Given the description of an element on the screen output the (x, y) to click on. 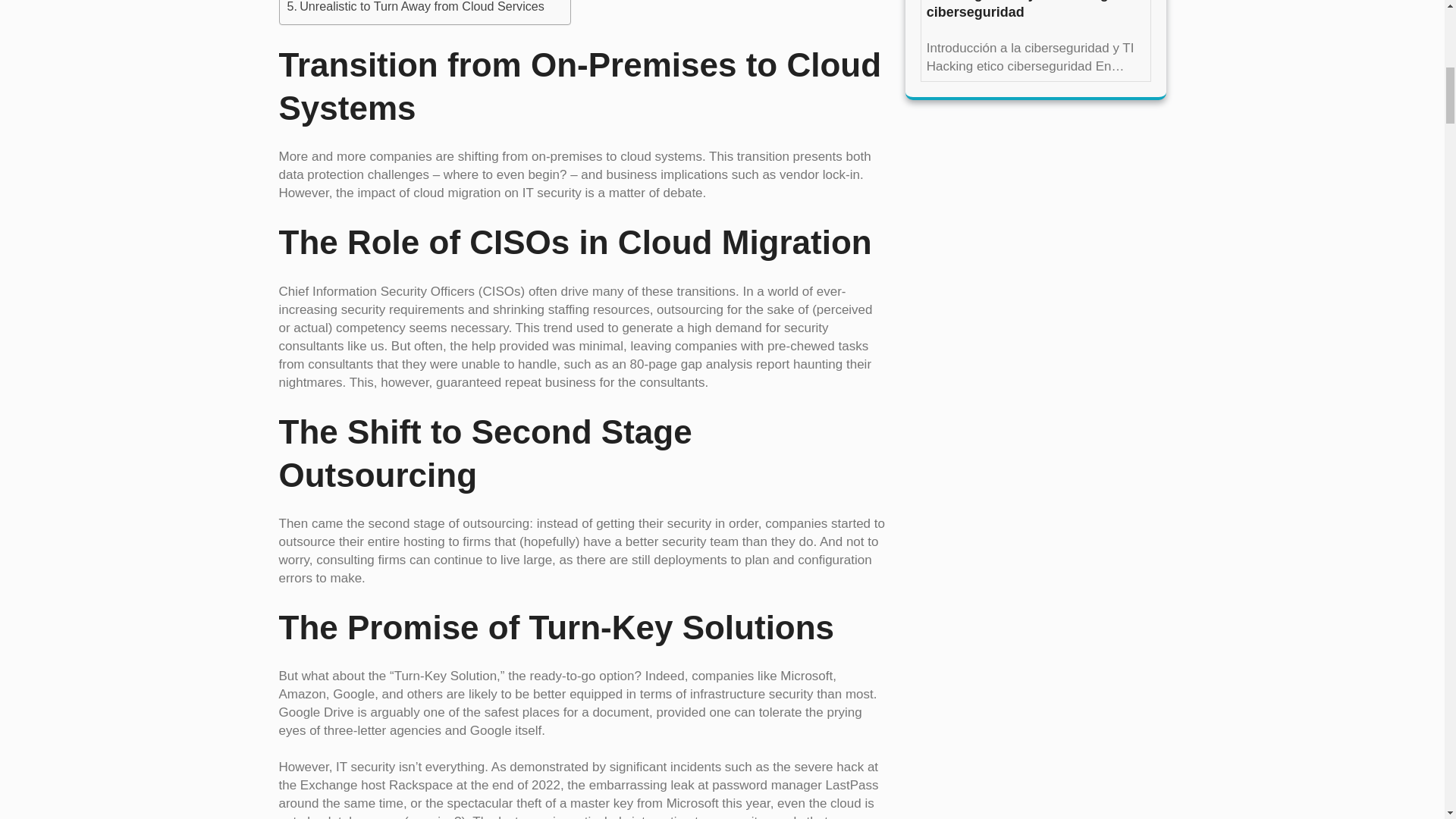
Unrealistic to Turn Away from Cloud Services (414, 8)
Unrealistic to Turn Away from Cloud Services (414, 8)
ciberseguridad y TI Hacking etico ciberseguridad (1035, 10)
